Given the description of an element on the screen output the (x, y) to click on. 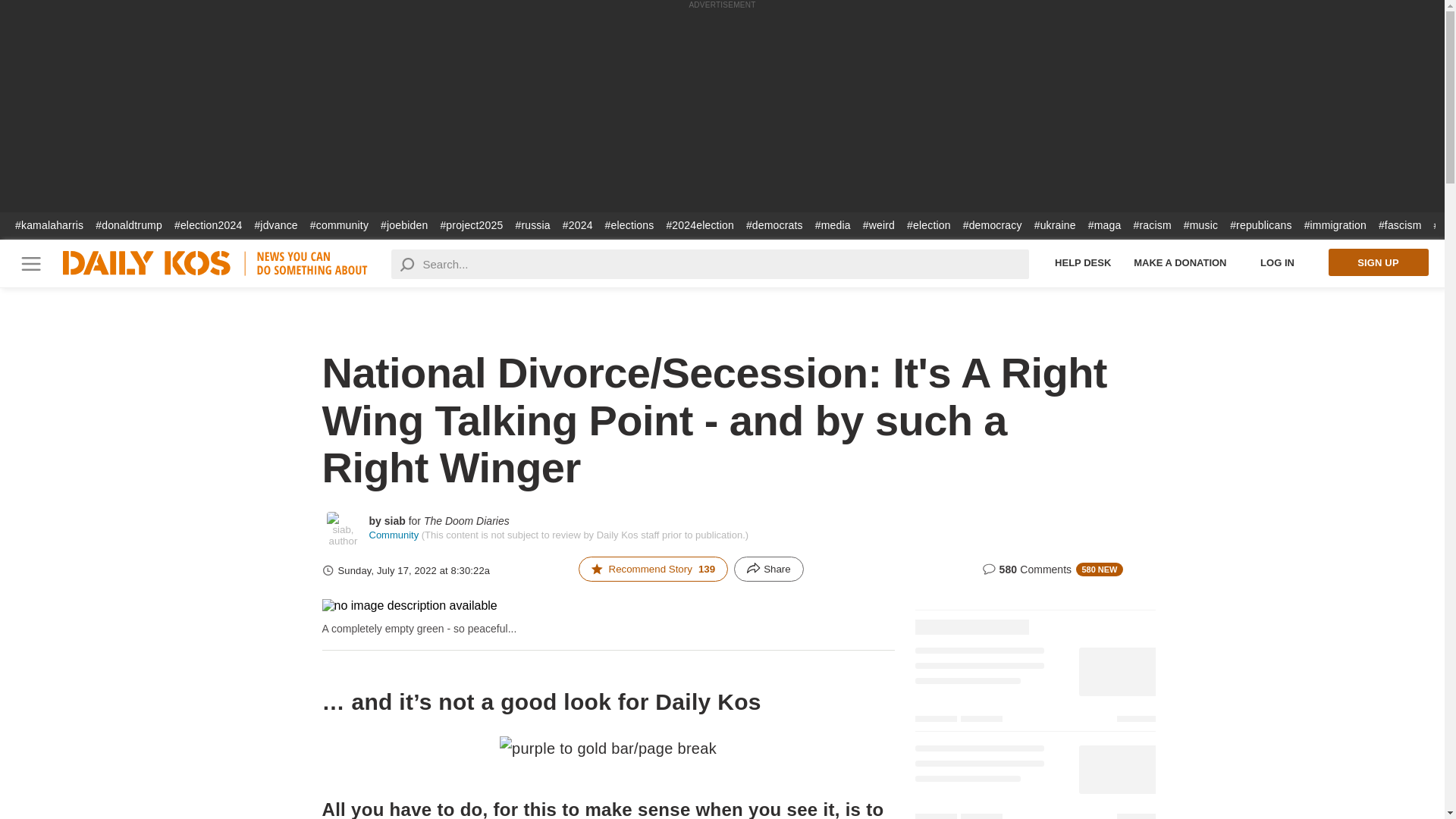
Loading... (1034, 686)
Loading... (1034, 778)
Loading... (1034, 617)
MAKE A DONATION (1179, 262)
Help Desk (1082, 262)
Make a Donation (1179, 262)
